Given the description of an element on the screen output the (x, y) to click on. 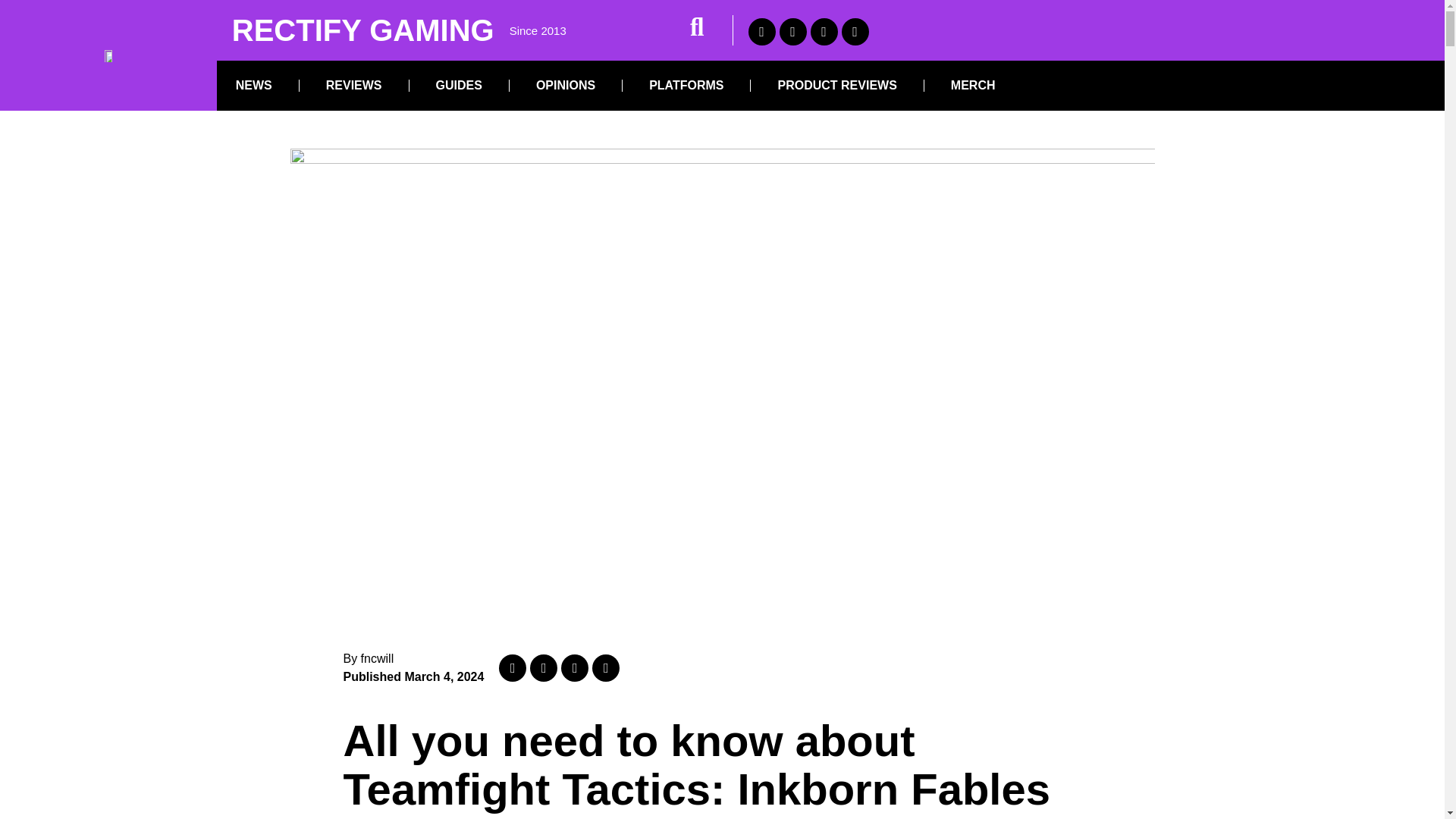
PLATFORMS (685, 85)
REVIEWS (354, 85)
MERCH (973, 85)
PRODUCT REVIEWS (836, 85)
RECTIFY GAMING (363, 29)
NEWS (253, 85)
GUIDES (458, 85)
OPINIONS (565, 85)
